Given the description of an element on the screen output the (x, y) to click on. 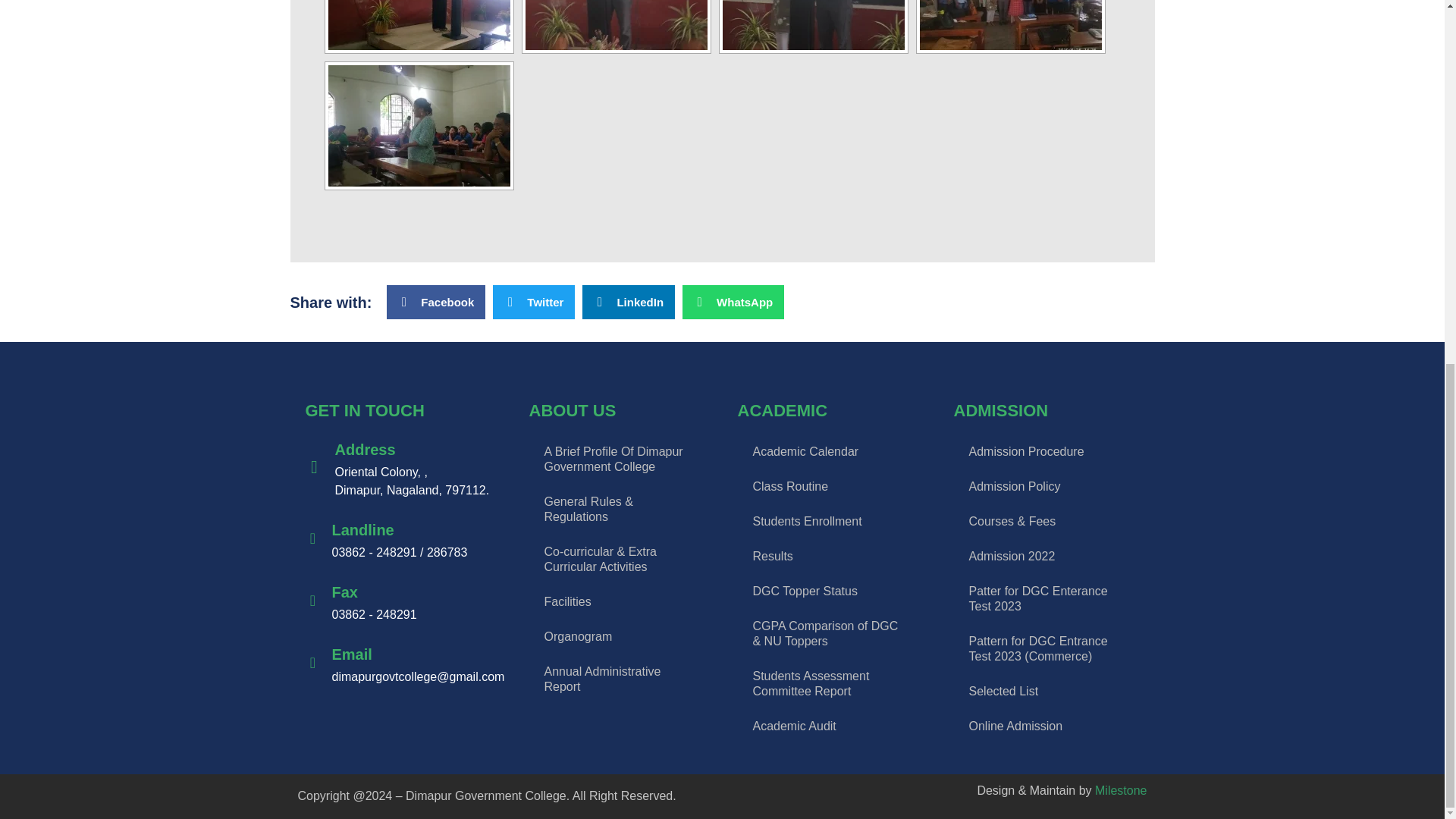
2nd-Lecture-Series-History-26.6-1 (615, 24)
2nd-Lecture-Series-History-26.6-3 (1009, 24)
2nd-Lecture-Series-History-26.6-5 (418, 24)
2nd-Lecture-Series-History-26.6-4 (418, 125)
2nd-Lecture-Series-History-26.6-2 (813, 24)
